Given the description of an element on the screen output the (x, y) to click on. 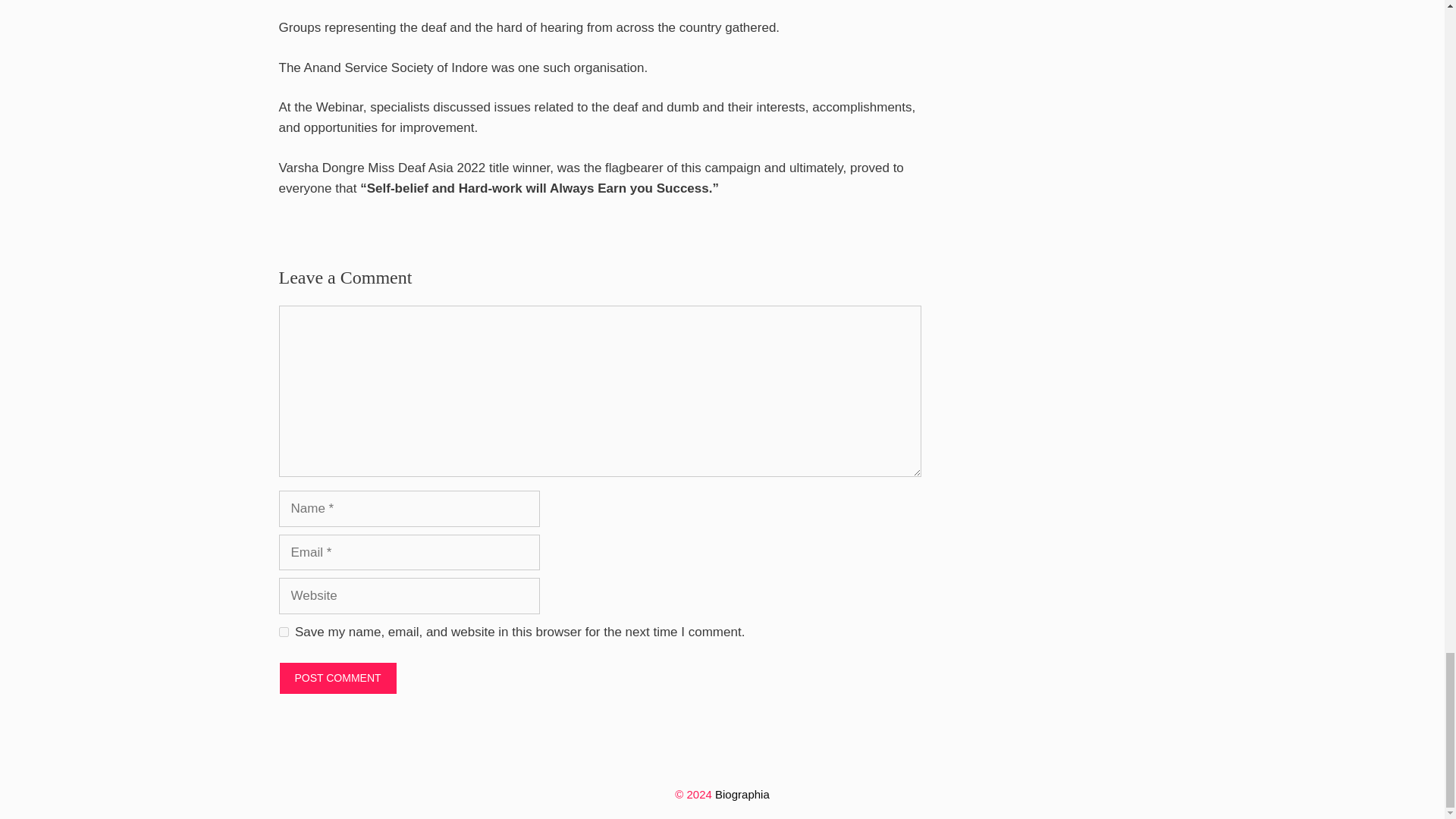
Biographia (742, 793)
Post Comment (338, 677)
Post Comment (338, 677)
yes (283, 632)
